Given the description of an element on the screen output the (x, y) to click on. 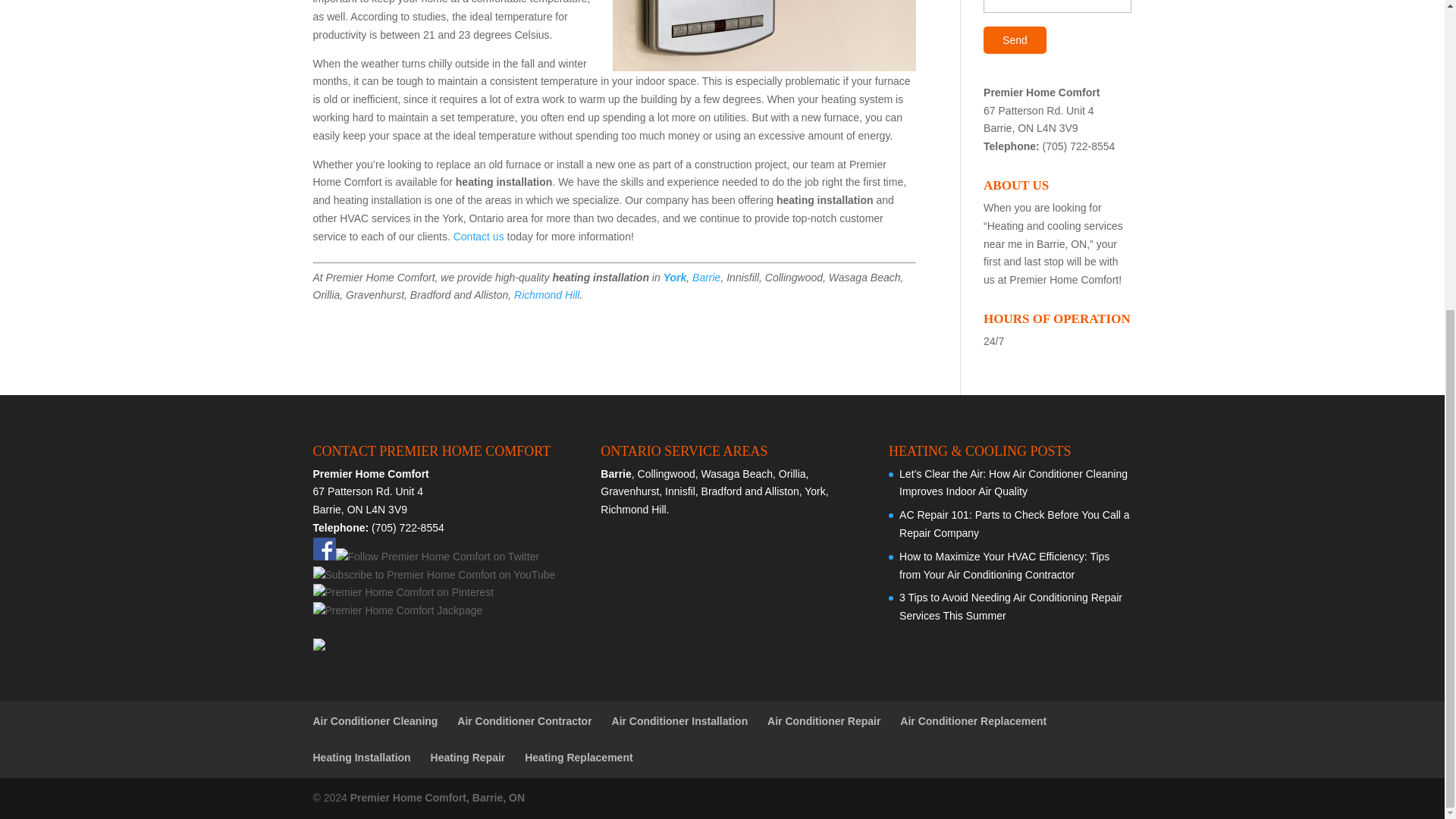
Contact us (477, 236)
Barrie (706, 277)
Send (1015, 40)
Send (1015, 40)
Like Premier Home Comfort on Facebook (323, 556)
Premier Home Comfort on Pinterest (403, 592)
Subscribe to Premier Home Comfort on YouTube (433, 574)
Premier Home Comfort Jackpage (397, 610)
York (675, 277)
Richmond Hill (546, 295)
